Given the description of an element on the screen output the (x, y) to click on. 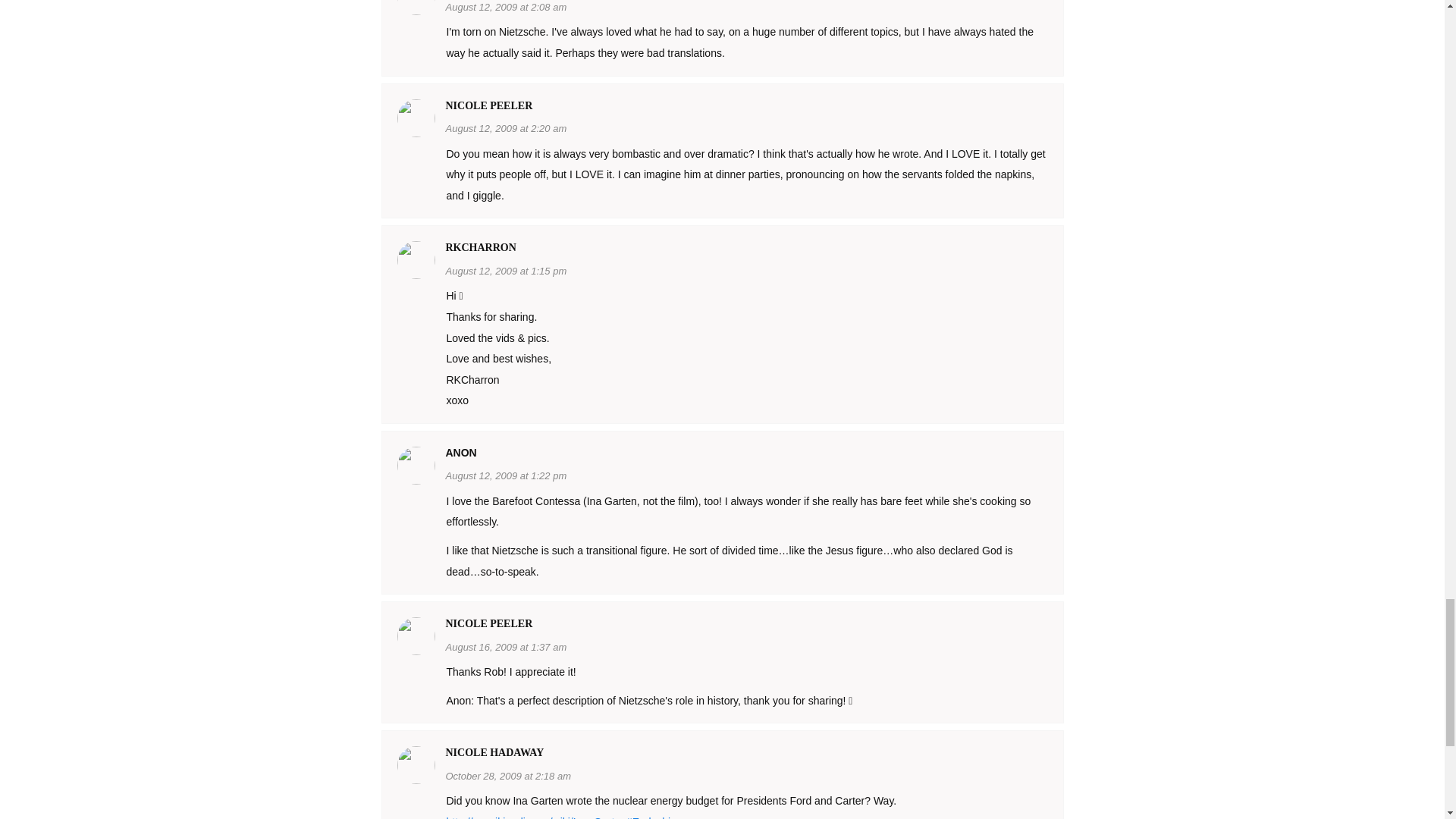
RKCHARRON (480, 247)
August 12, 2009 at 1:22 pm (506, 474)
NICOLE PEELER (488, 623)
October 28, 2009 at 2:18 am (508, 775)
August 12, 2009 at 1:15 pm (506, 269)
August 12, 2009 at 2:20 am (506, 127)
August 16, 2009 at 1:37 am (506, 645)
NICOLE HADAWAY (494, 752)
August 12, 2009 at 2:08 am (506, 6)
NICOLE PEELER (488, 105)
